Given the description of an element on the screen output the (x, y) to click on. 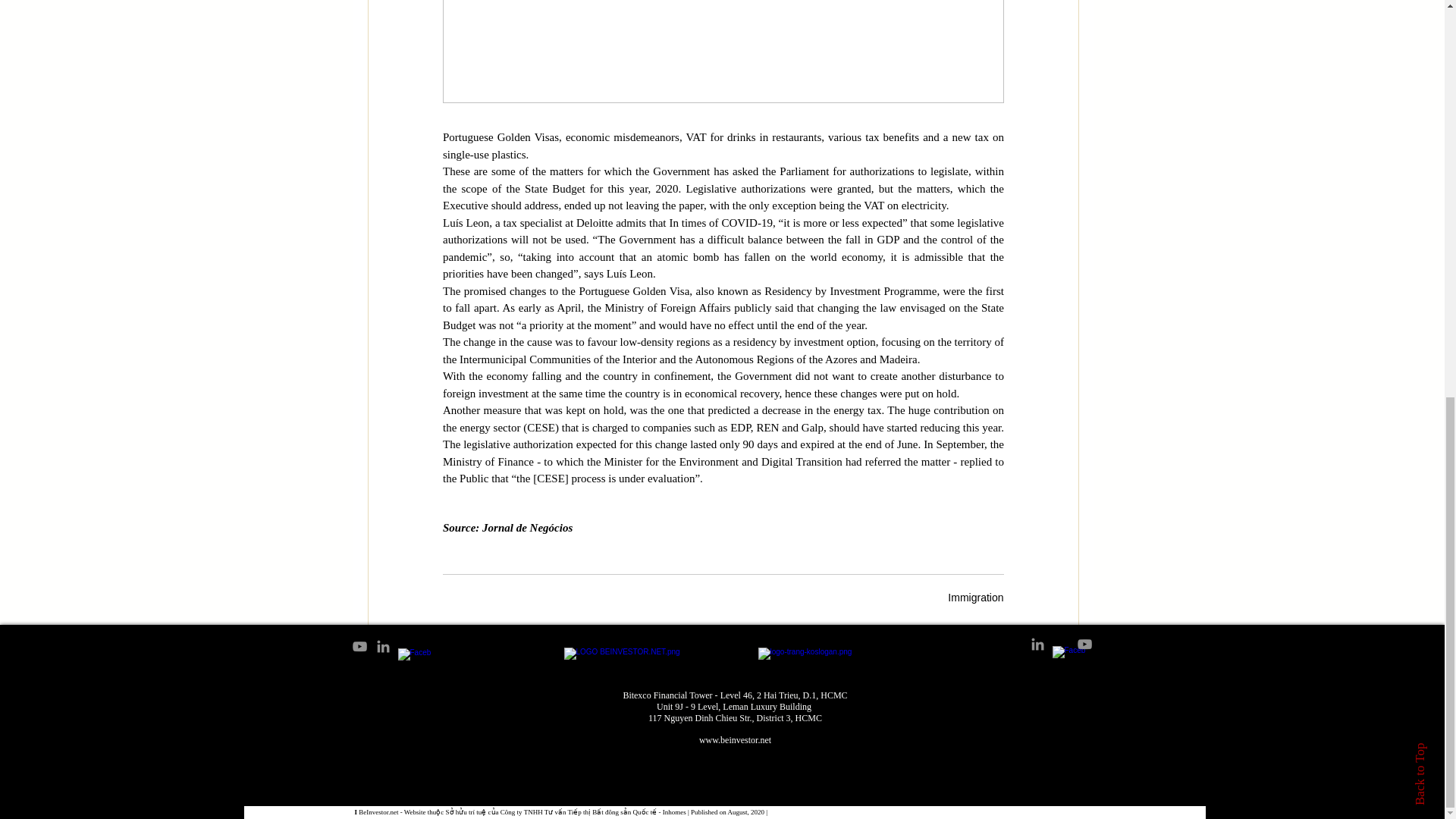
Immigration (975, 597)
www.beinvestor.net (734, 739)
